Given the description of an element on the screen output the (x, y) to click on. 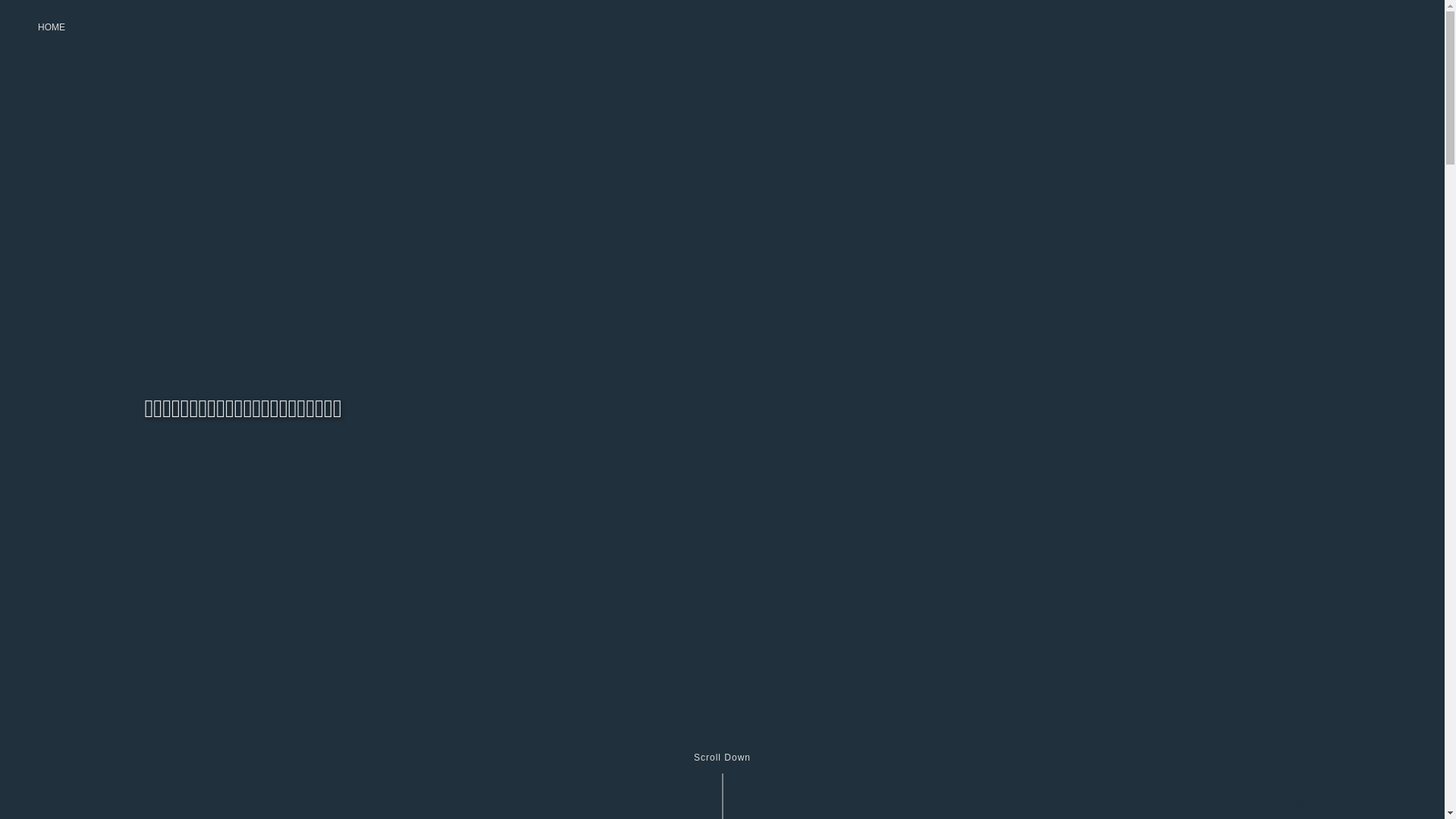
Scroll Top Element type: text (1299, 766)
HOME Element type: text (51, 26)
